Given the description of an element on the screen output the (x, y) to click on. 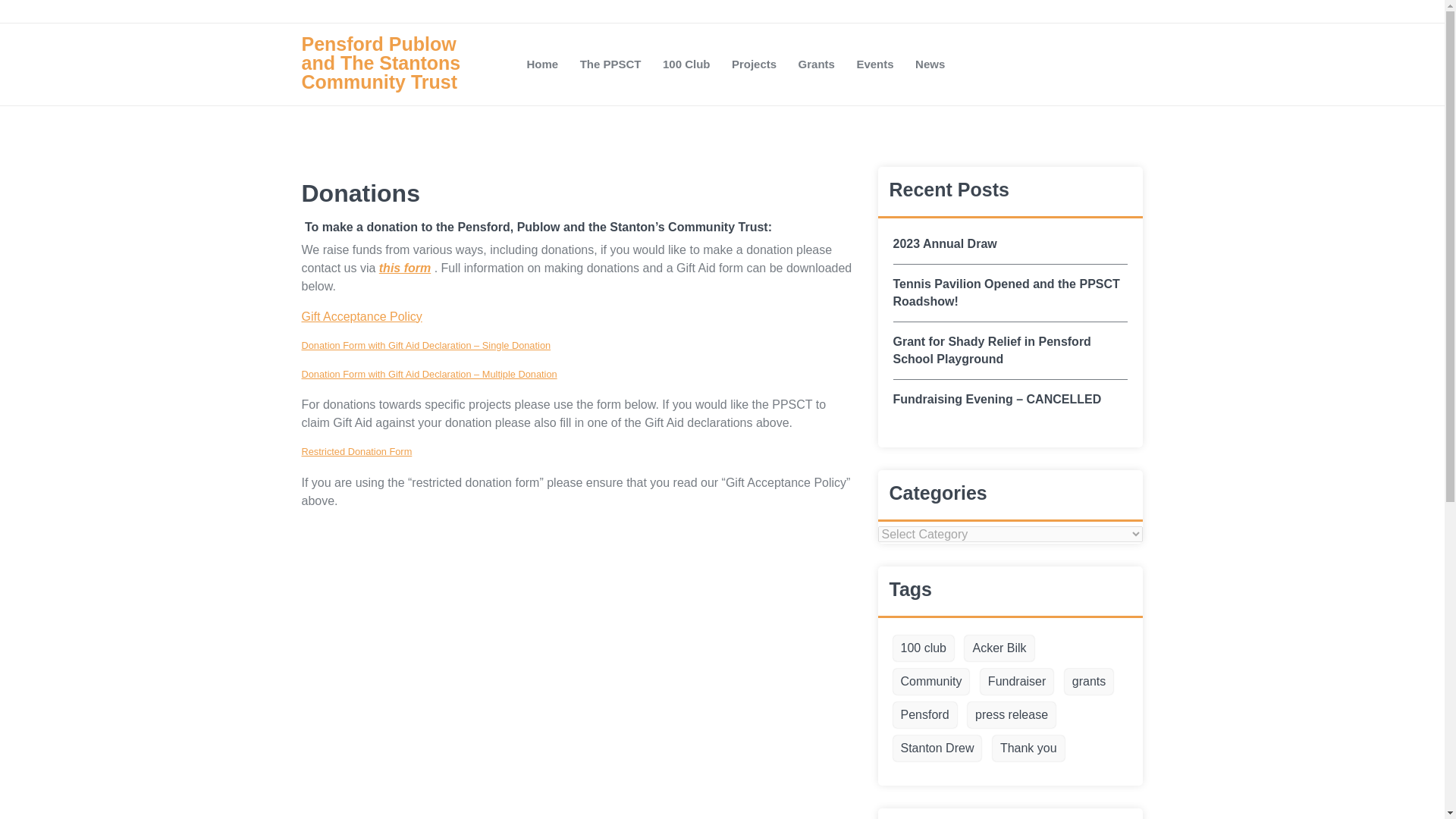
Grants (816, 64)
Gift Acceptance Policy (361, 316)
Acker Bilk (998, 647)
Projects (754, 64)
News (929, 64)
100 Club (686, 64)
Community (931, 681)
Home (541, 64)
Pensford (924, 714)
Grant for Shady Relief in Pensford School Playground (1010, 350)
The PPSCT (610, 64)
grants (1088, 681)
Pensford Publow and The Stantons Community Trust (398, 63)
Stanton Drew (937, 748)
Thank you (1028, 748)
